Given the description of an element on the screen output the (x, y) to click on. 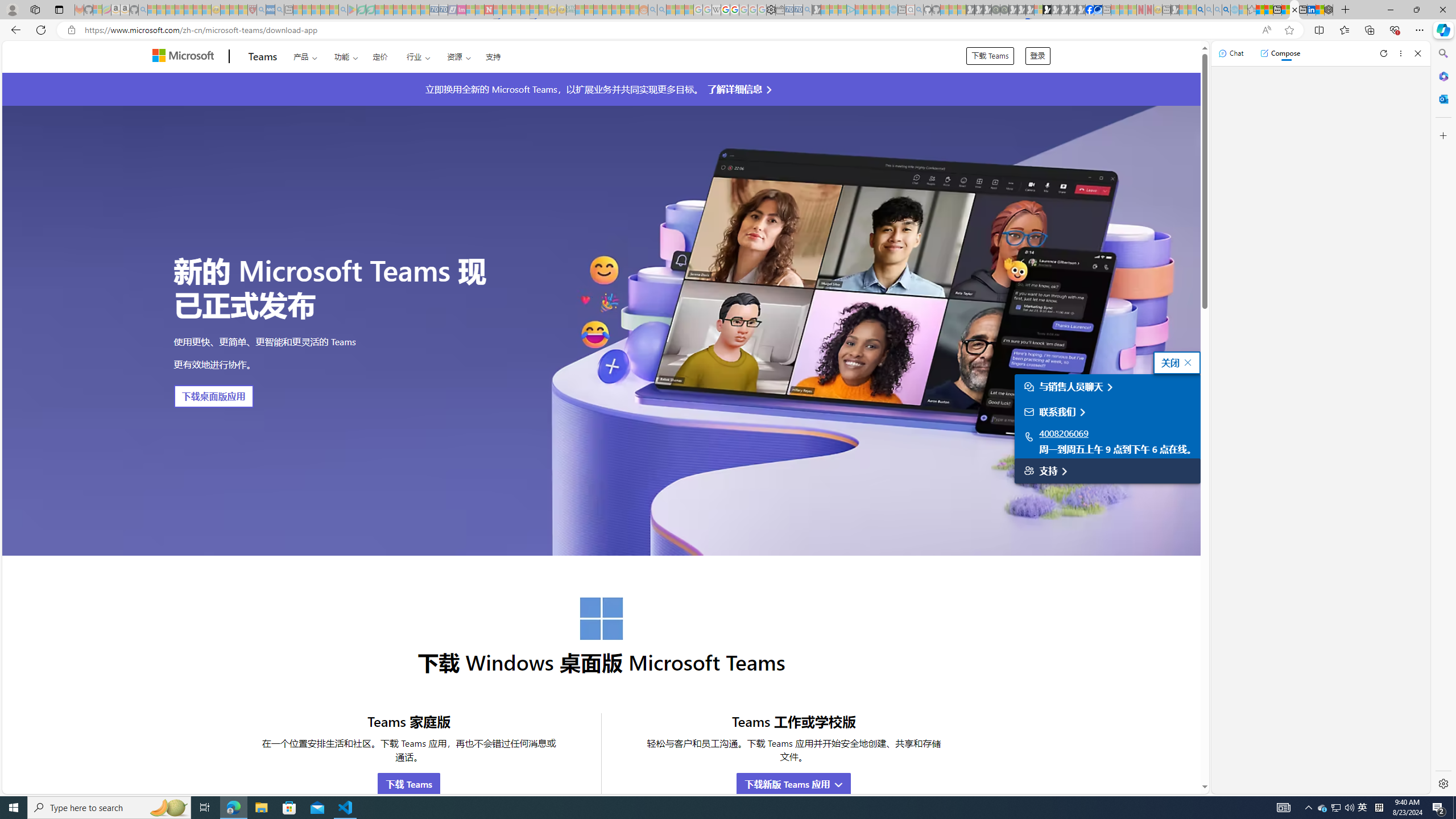
Nordace | Facebook (1089, 9)
Target page - Wikipedia - Sleeping (716, 9)
